Given the description of an element on the screen output the (x, y) to click on. 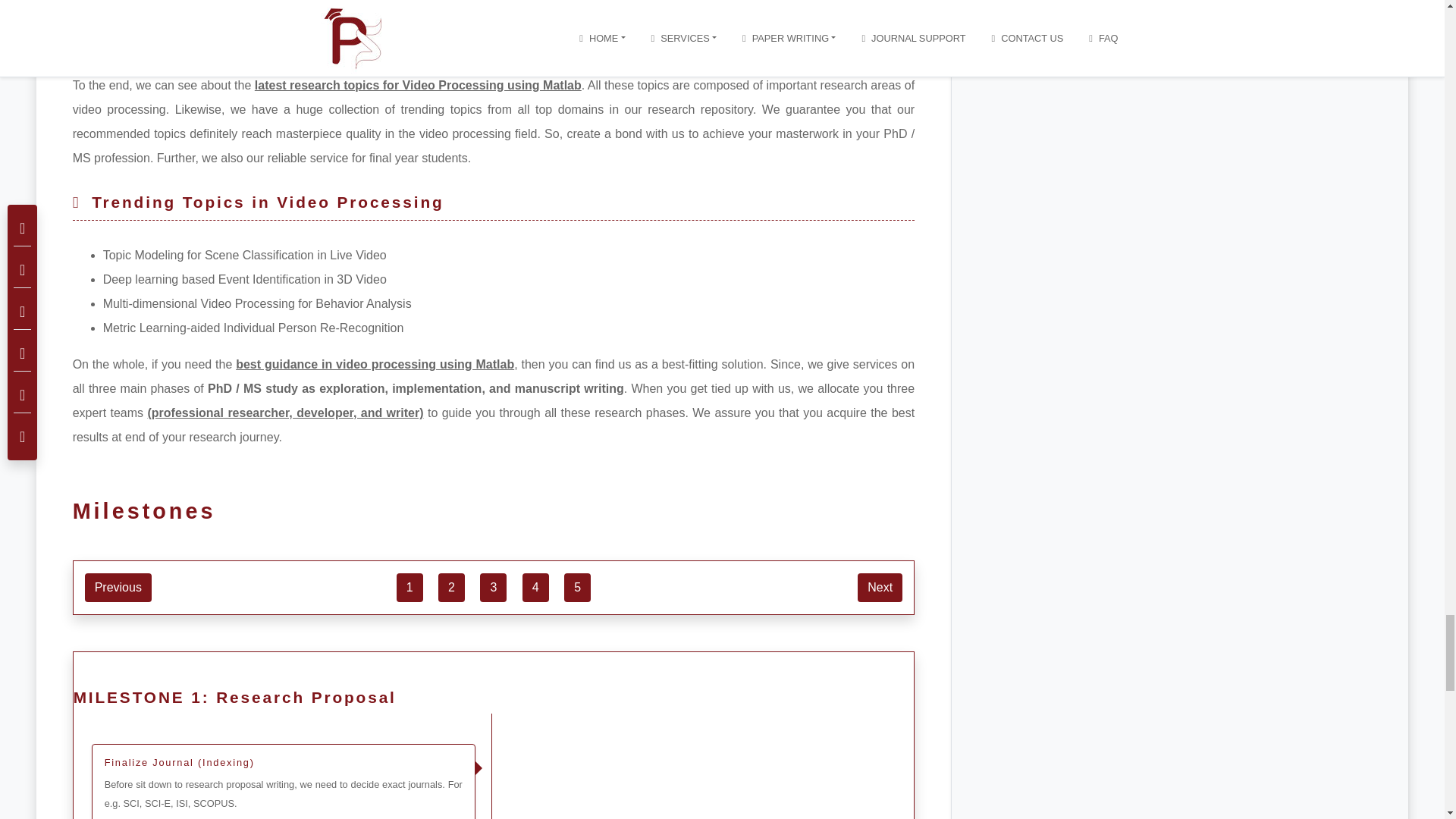
1 (409, 587)
2 (451, 587)
Next (879, 587)
5 (577, 587)
3 (493, 587)
Previous (117, 587)
4 (535, 587)
Deep learning (141, 278)
